Given the description of an element on the screen output the (x, y) to click on. 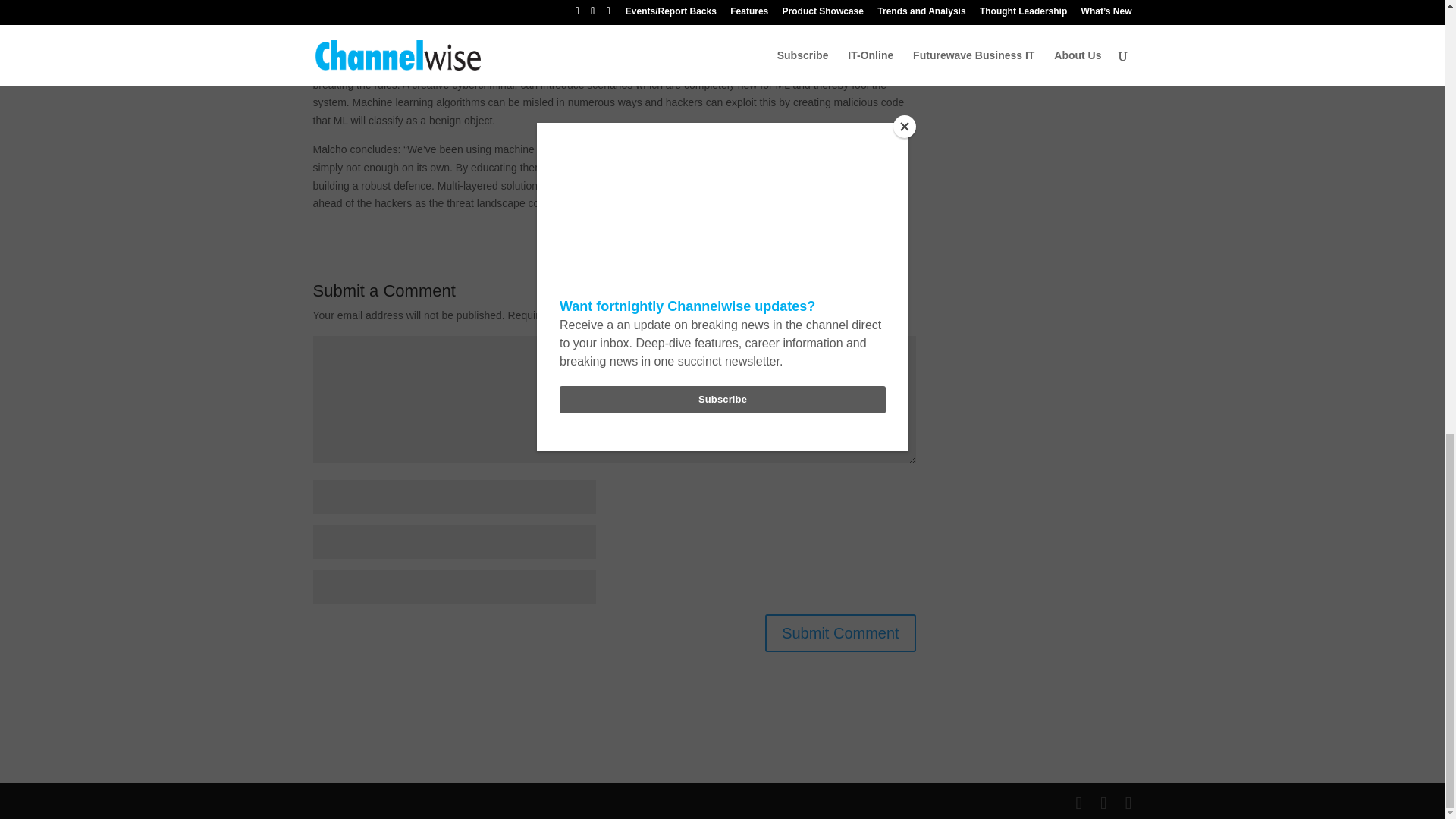
Submit Comment (840, 632)
Submit Comment (840, 632)
